Given the description of an element on the screen output the (x, y) to click on. 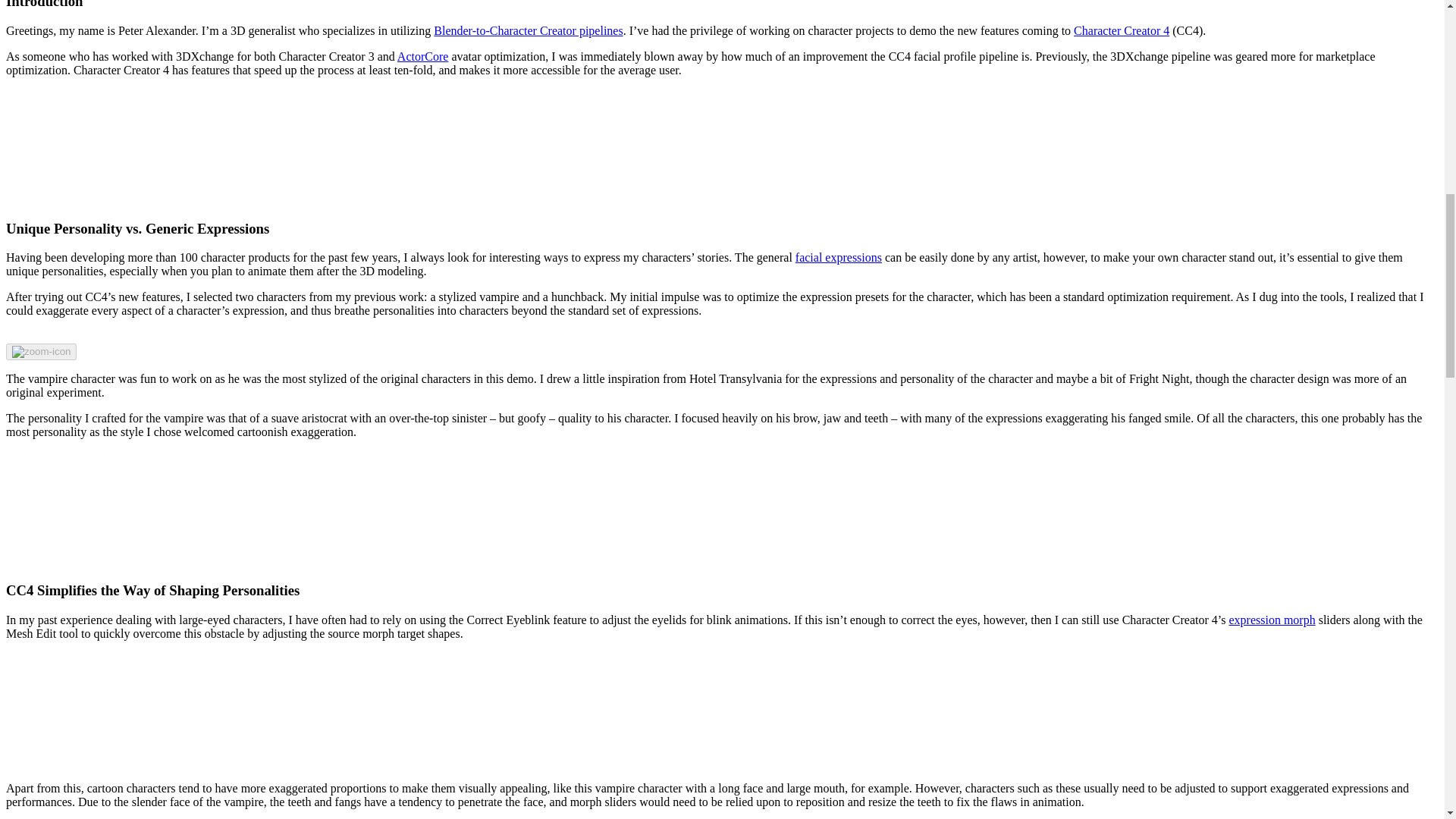
Character Creator 4 (1121, 30)
expression morph (1271, 619)
Blender-to-Character Creator pipelines (528, 30)
facial expressions (838, 256)
ActorCore (422, 56)
